Given the description of an element on the screen output the (x, y) to click on. 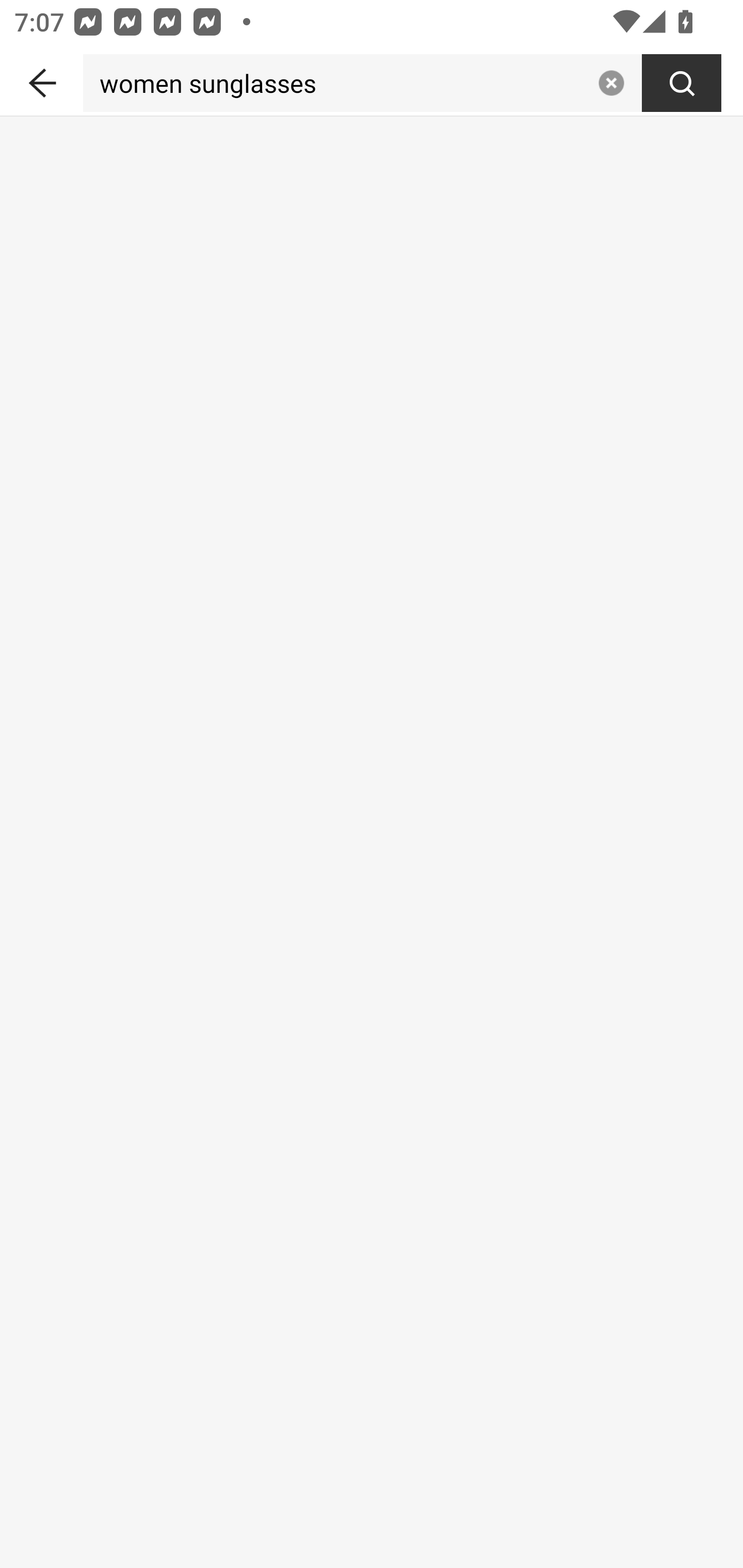
BACK (41, 79)
women sunglasses (336, 82)
Clear (610, 82)
